Given the description of an element on the screen output the (x, y) to click on. 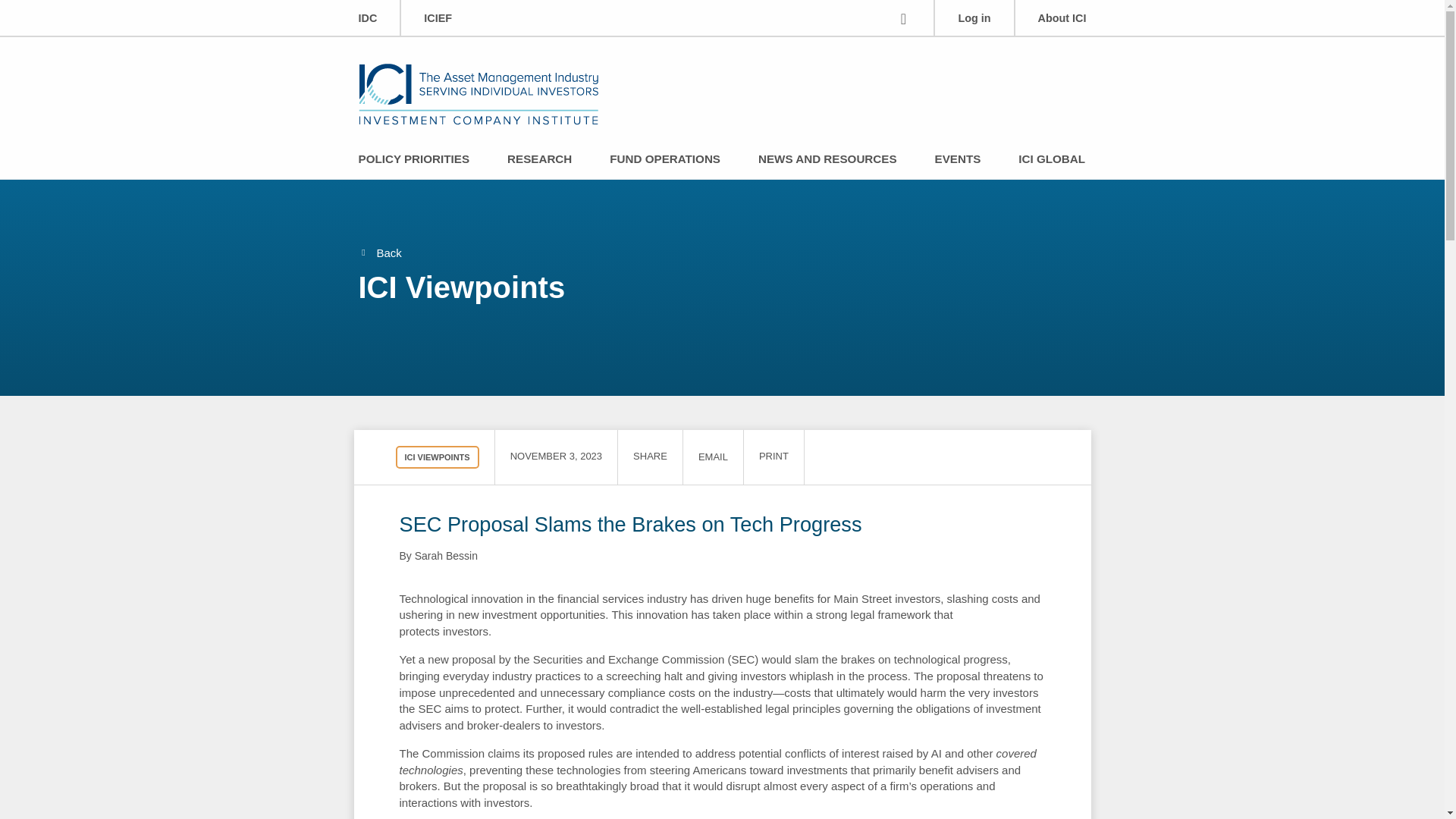
Search (903, 16)
ICIEF (437, 18)
POLICY PRIORITIES (413, 160)
NEWS AND RESOURCES (827, 160)
FUND OPERATIONS (665, 160)
About ICI (1062, 18)
RESEARCH (539, 160)
Log in (974, 18)
IDC (367, 18)
